Given the description of an element on the screen output the (x, y) to click on. 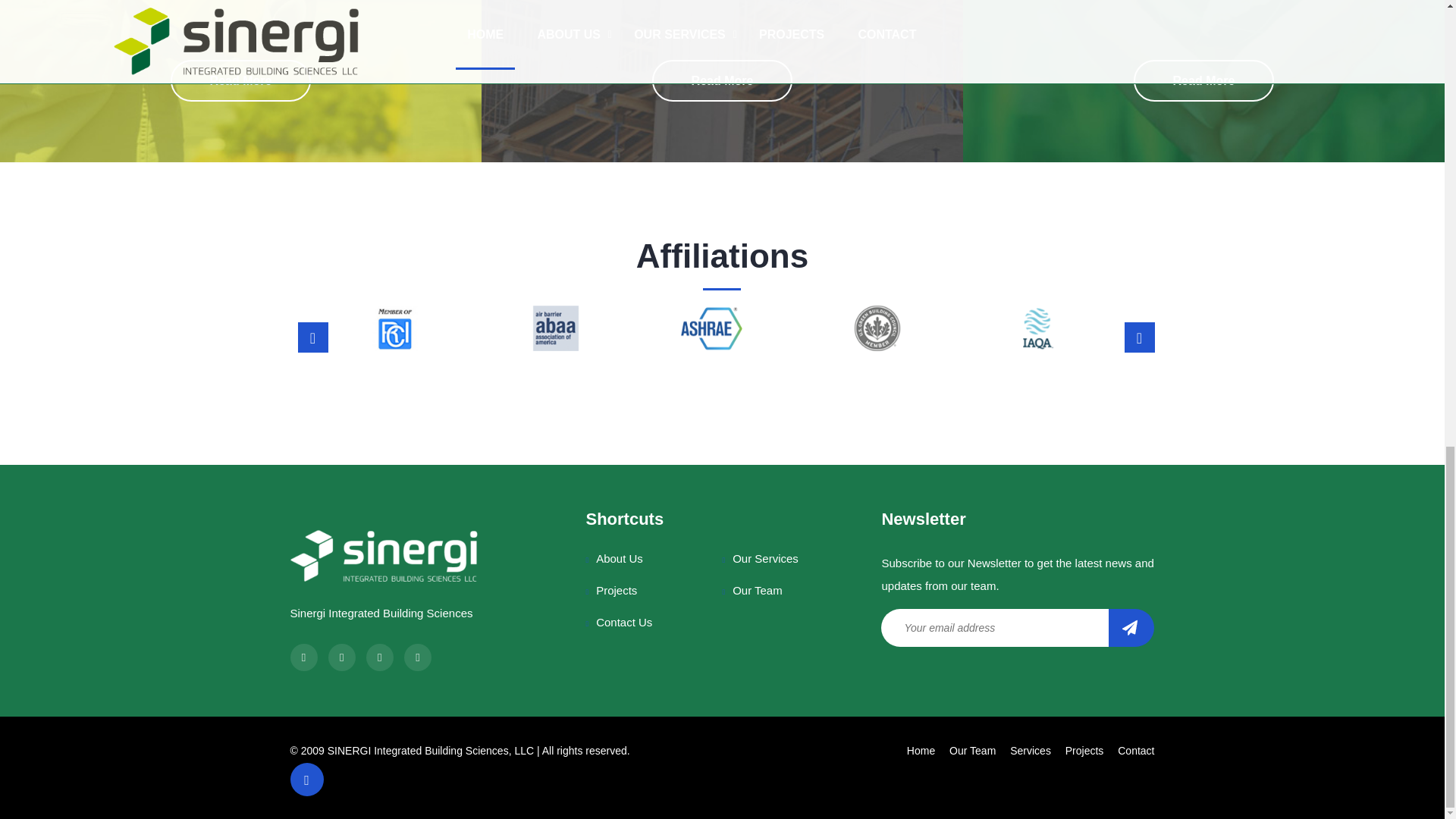
Read More (240, 80)
Back to Top (306, 779)
Sign up (1131, 628)
Read More (1204, 80)
Read More (722, 80)
